Given the description of an element on the screen output the (x, y) to click on. 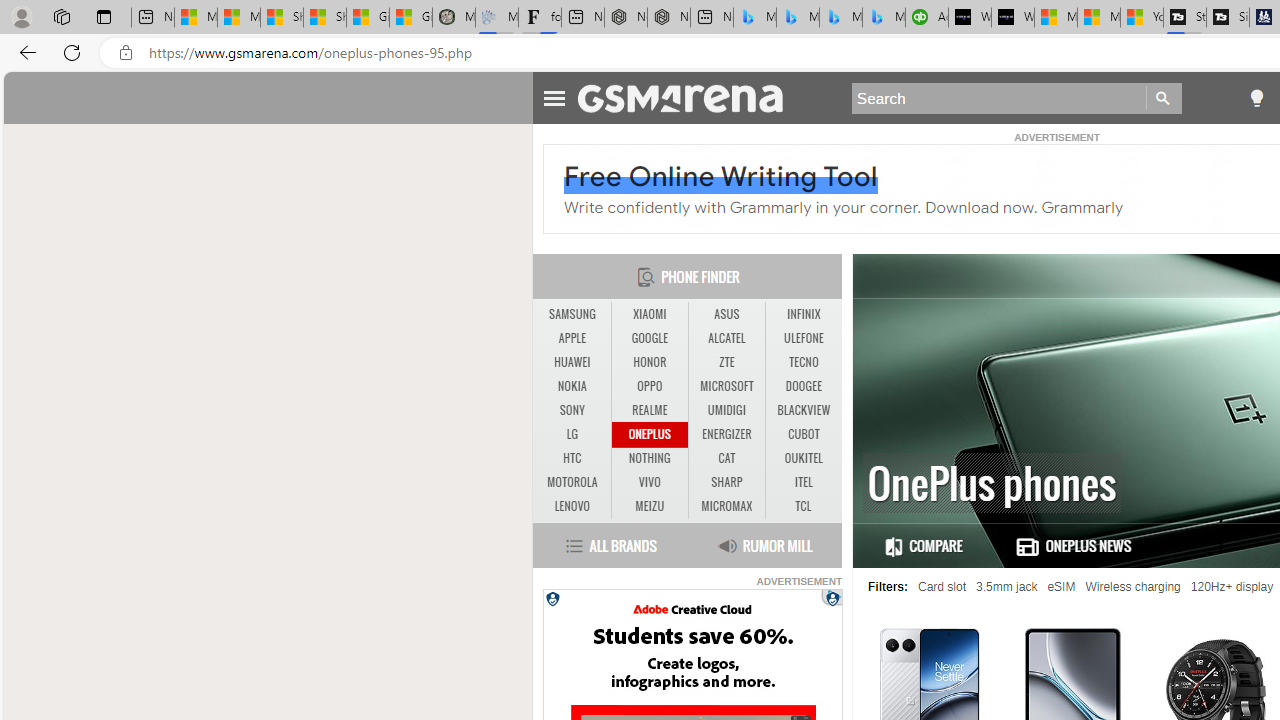
ONEPLUS (649, 434)
120Hz+ display (1231, 587)
INFINIX (803, 313)
Wireless charging (1133, 587)
ITEL (803, 483)
ITEL (803, 482)
MEIZU (649, 506)
TECNO (803, 362)
HTC (571, 458)
Wireless charging (1133, 587)
